Given the description of an element on the screen output the (x, y) to click on. 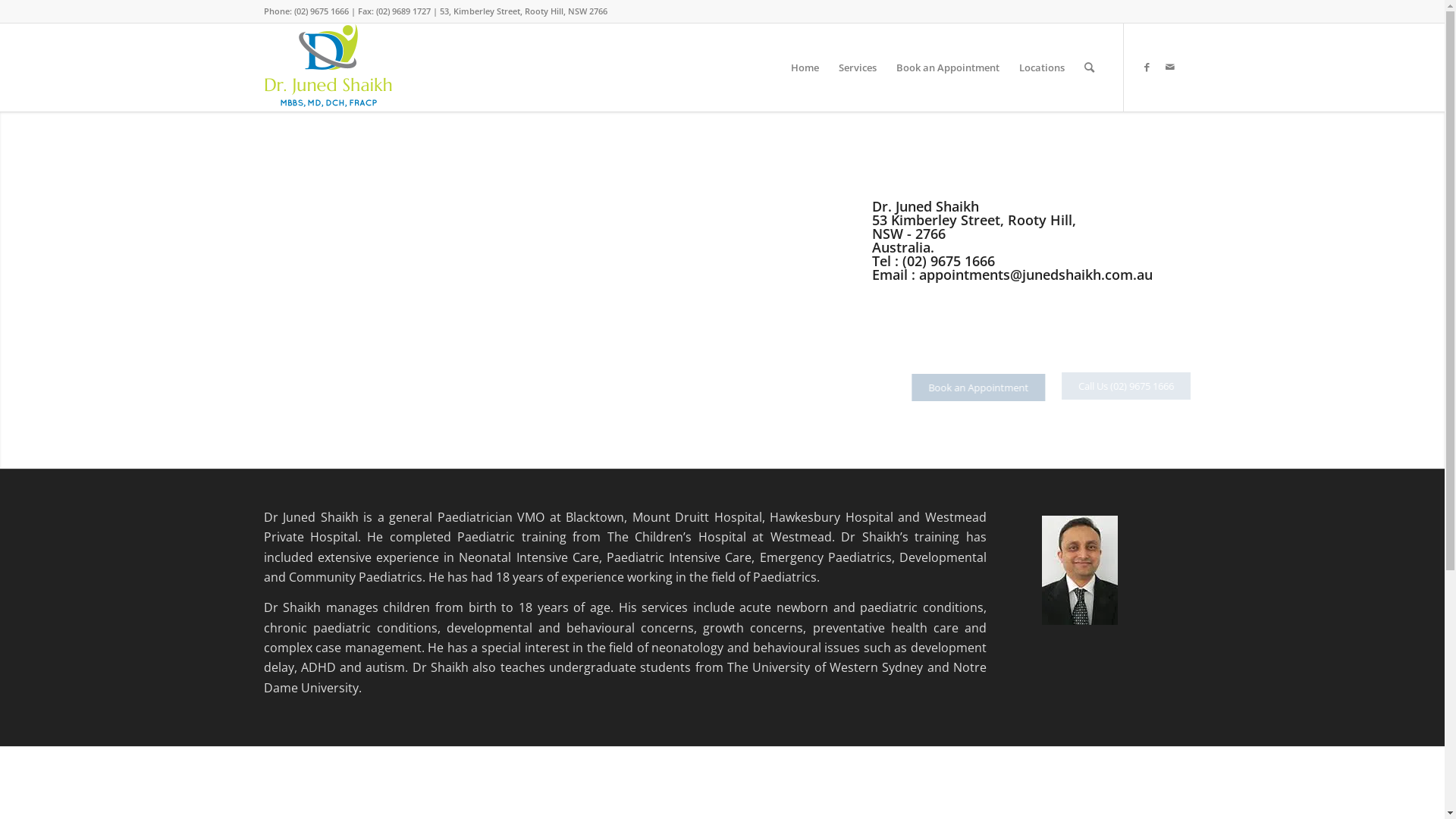
Call Us (02) 9675 1666 Element type: text (1132, 385)
appointments@junedshaikh.com.au Element type: text (1035, 274)
Services Element type: text (856, 67)
Facebook Element type: hover (1146, 66)
Book an Appointment Element type: text (946, 67)
Mail Element type: hover (1169, 66)
Dr. Juned Shaikh Element type: text (1012, 206)
Home Element type: text (804, 67)
Book an Appointment Element type: text (993, 387)
Locations Element type: text (1040, 67)
(02) 9675 1666 Element type: text (948, 260)
